Given the description of an element on the screen output the (x, y) to click on. 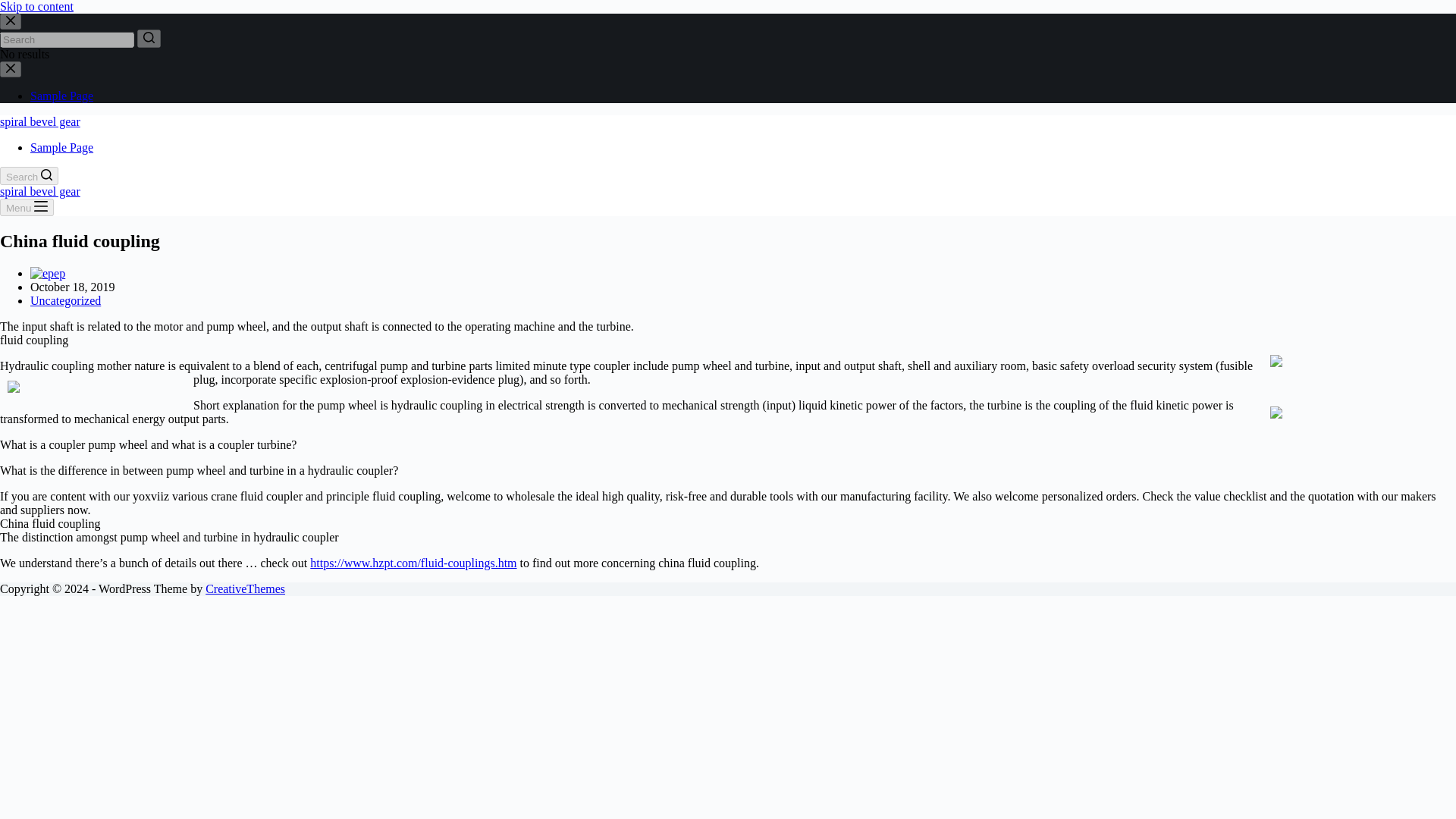
Search (29, 176)
Search for... (66, 39)
Uncategorized (65, 300)
spiral bevel gear (40, 191)
CreativeThemes (245, 588)
Menu (26, 207)
Skip to content (37, 6)
Sample Page (61, 146)
spiral bevel gear (40, 121)
Sample Page (61, 95)
